Given the description of an element on the screen output the (x, y) to click on. 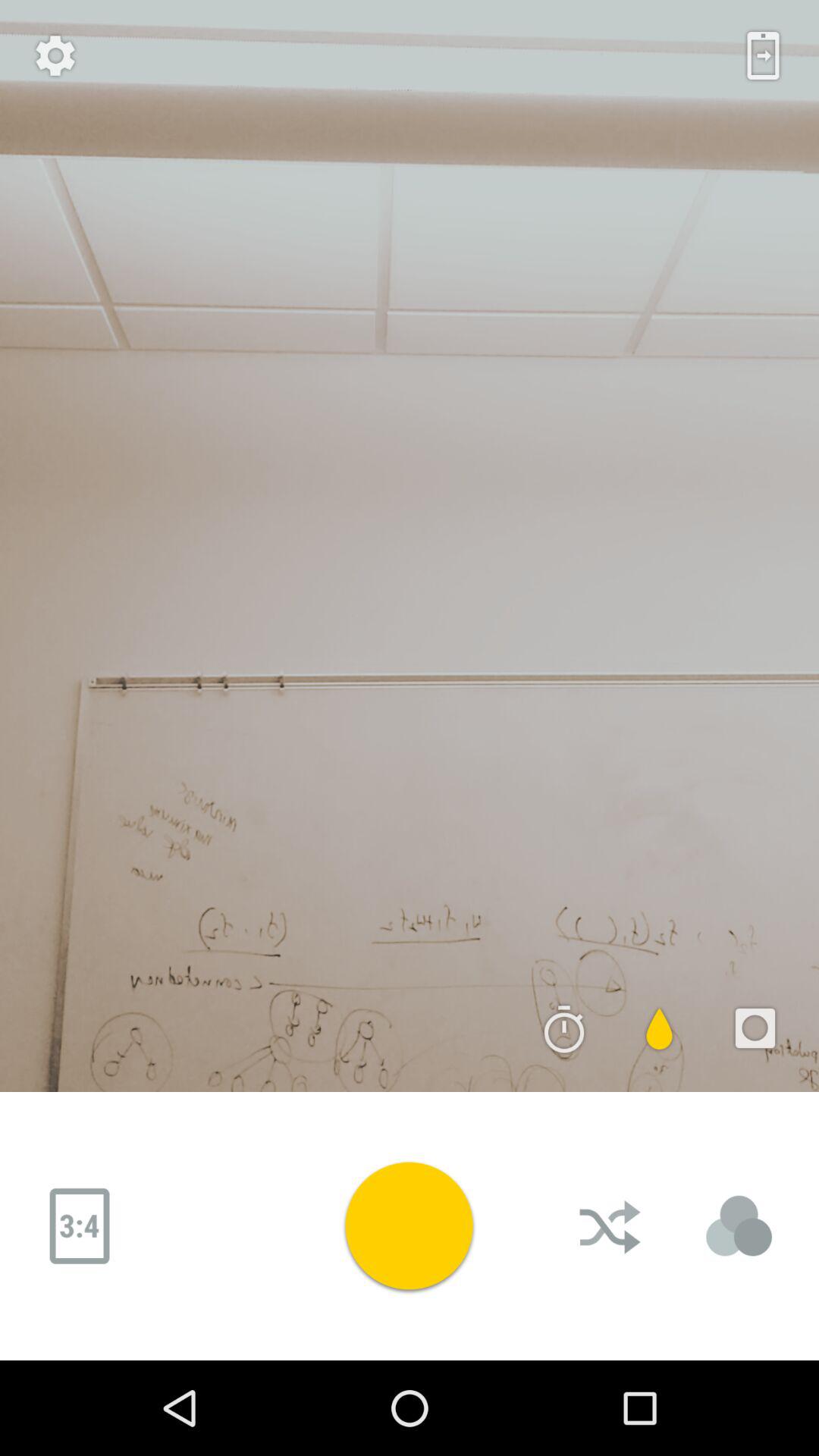
color filter (659, 1028)
